Given the description of an element on the screen output the (x, y) to click on. 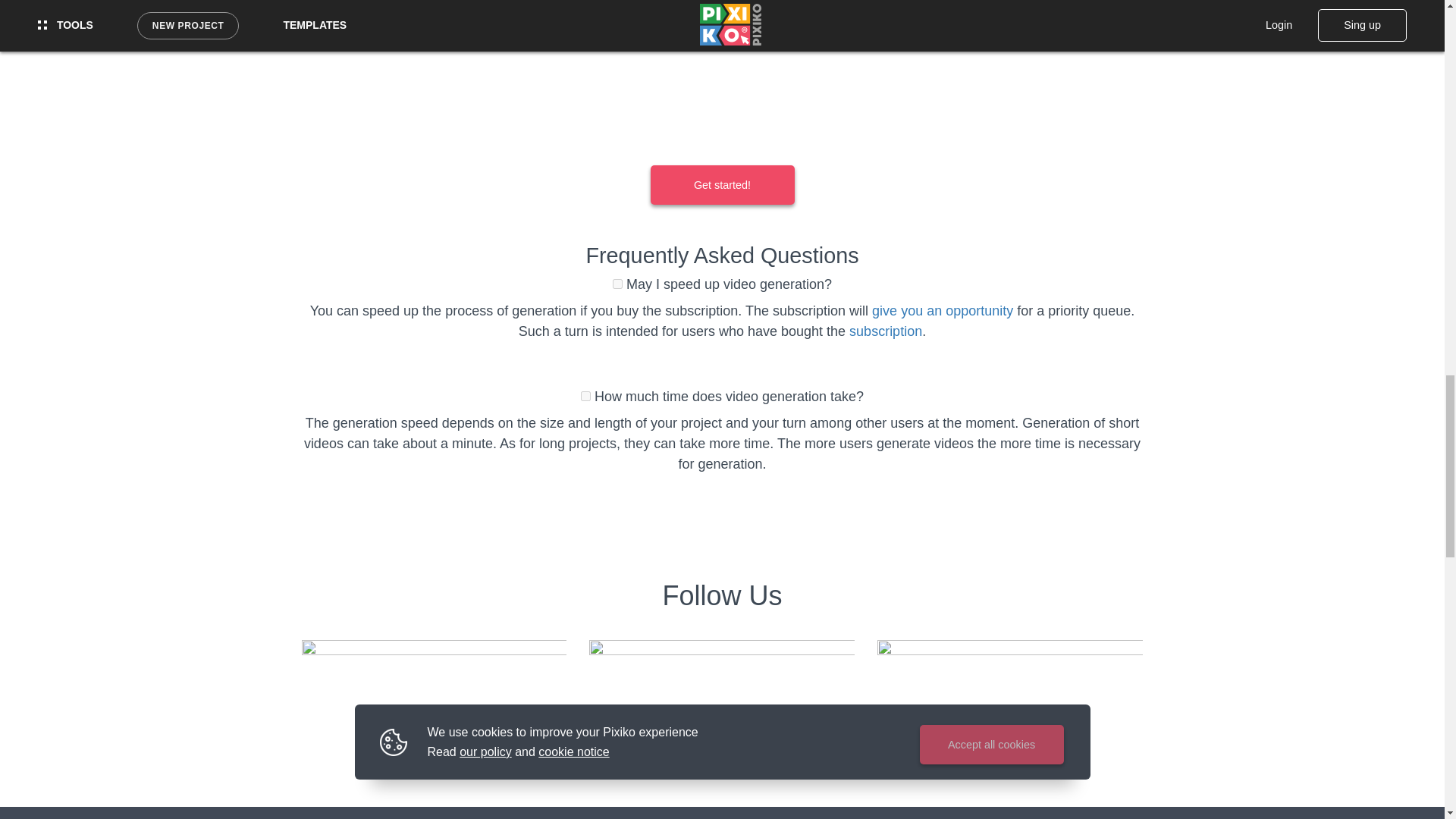
Get started! (722, 184)
subscription (884, 331)
on (585, 396)
on (617, 284)
give you an opportunity (942, 310)
